Given the description of an element on the screen output the (x, y) to click on. 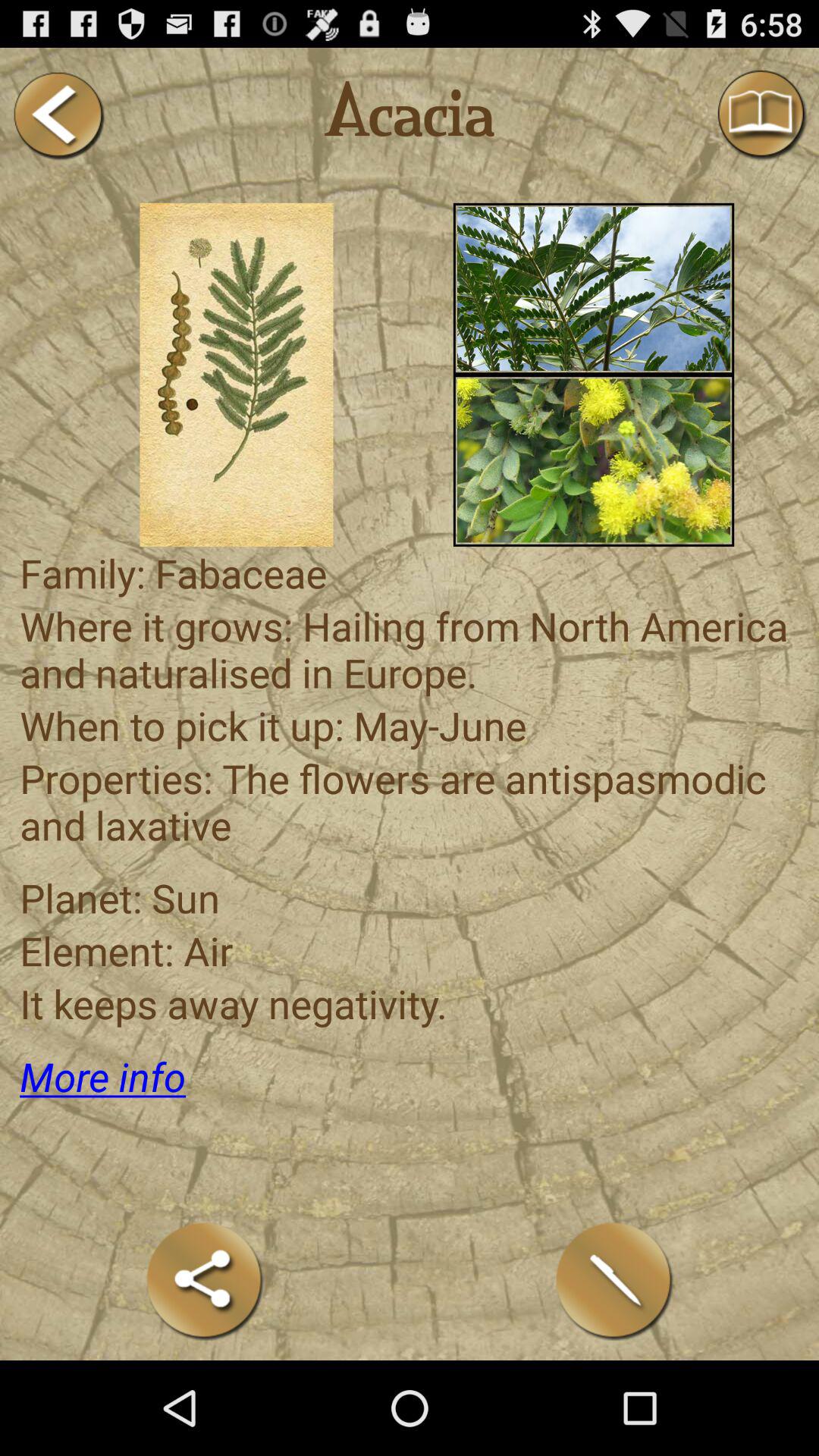
show image (593, 288)
